Given the description of an element on the screen output the (x, y) to click on. 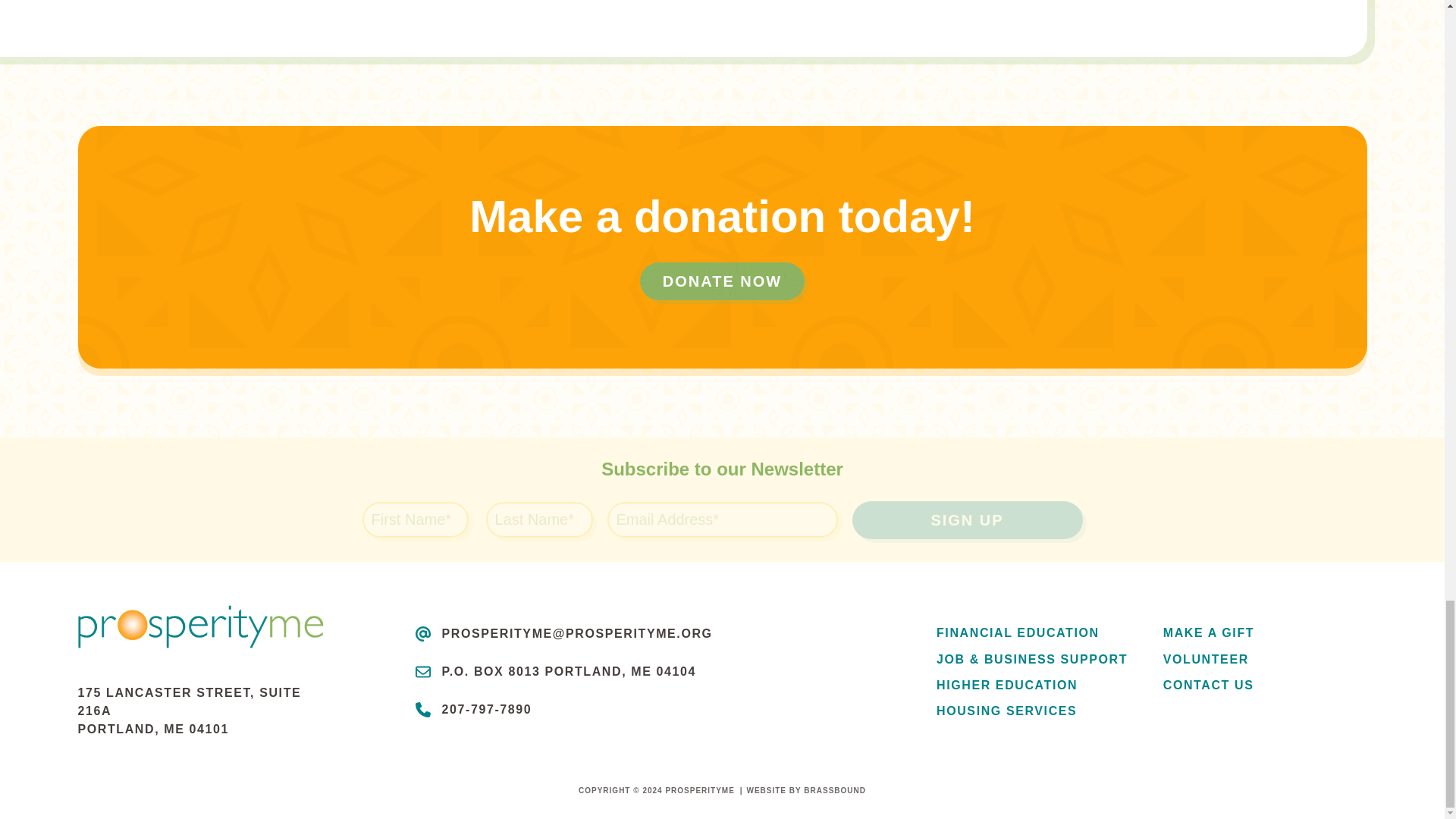
HIGHER EDUCATION (1038, 685)
HOUSING SERVICES (1038, 710)
FINANCIAL EDUCATION (1038, 632)
CONTACT US (1265, 685)
207-797-7890 (486, 708)
VOLUNTEER (1265, 658)
MAKE A GIFT (1265, 632)
Sign Up (967, 519)
DONATE NOW (722, 281)
Sign Up (967, 519)
